Given the description of an element on the screen output the (x, y) to click on. 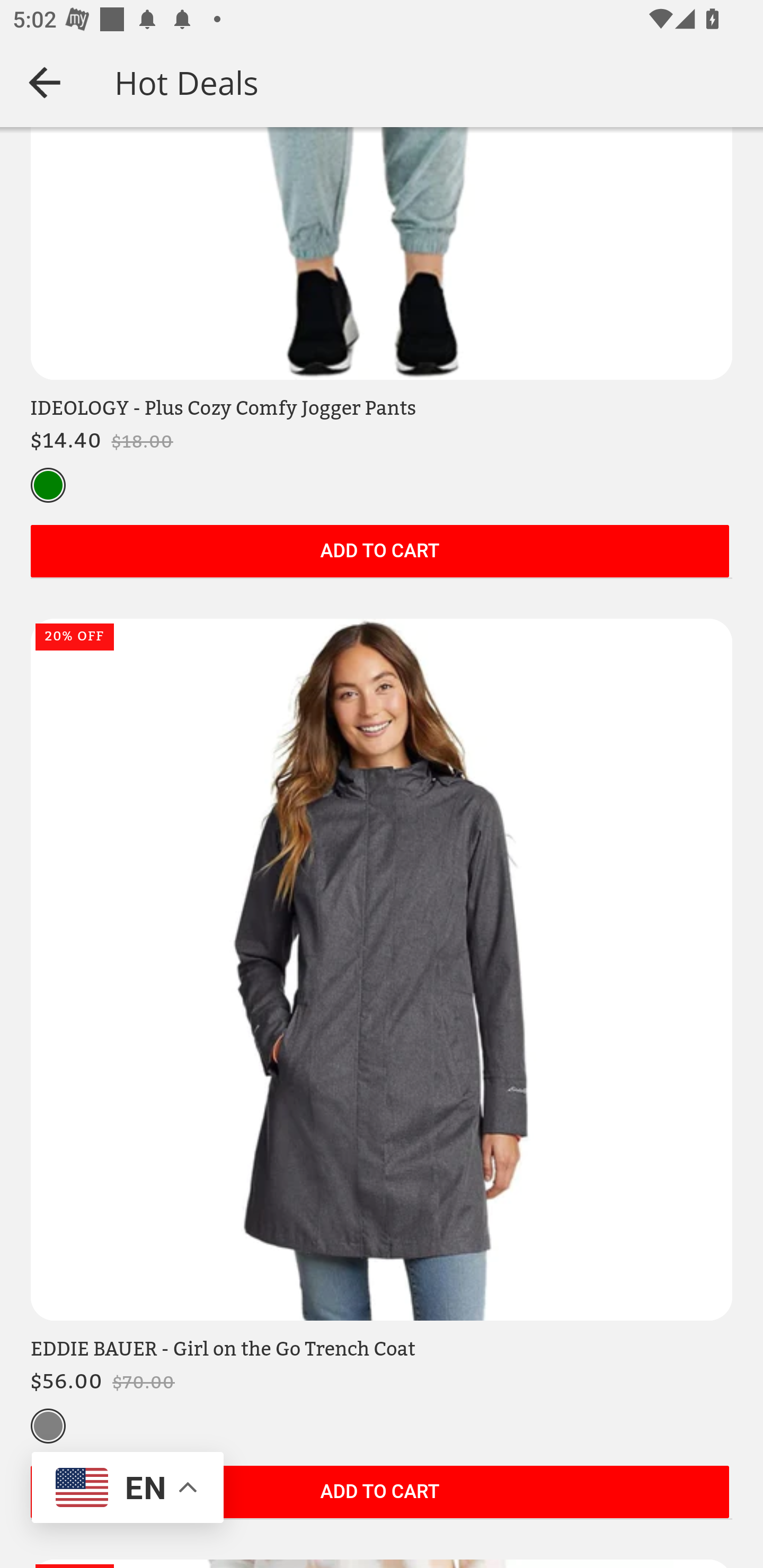
Navigate up (44, 82)
Green (48, 486)
ADD TO CART (379, 552)
Grey (48, 1427)
ADD TO CART (379, 1493)
